Given the description of an element on the screen output the (x, y) to click on. 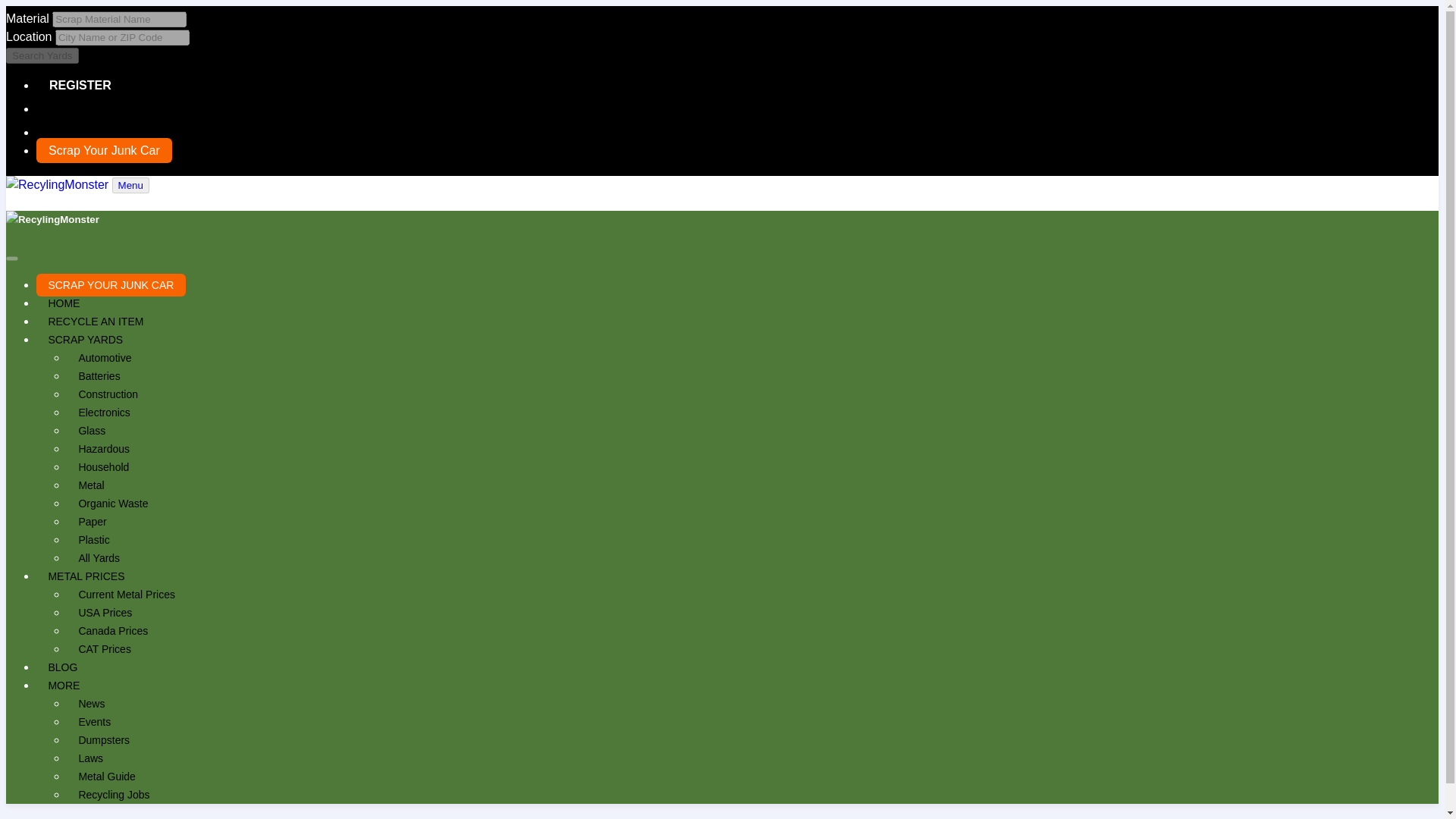
REGISTER (78, 85)
Laws (90, 758)
HOME (63, 303)
RECYCLE AN ITEM (95, 321)
METAL PRICES (86, 576)
Recycling Jobs (113, 794)
Construction (107, 394)
Paper (91, 521)
Menu (129, 184)
Hazardous (103, 449)
